Given the description of an element on the screen output the (x, y) to click on. 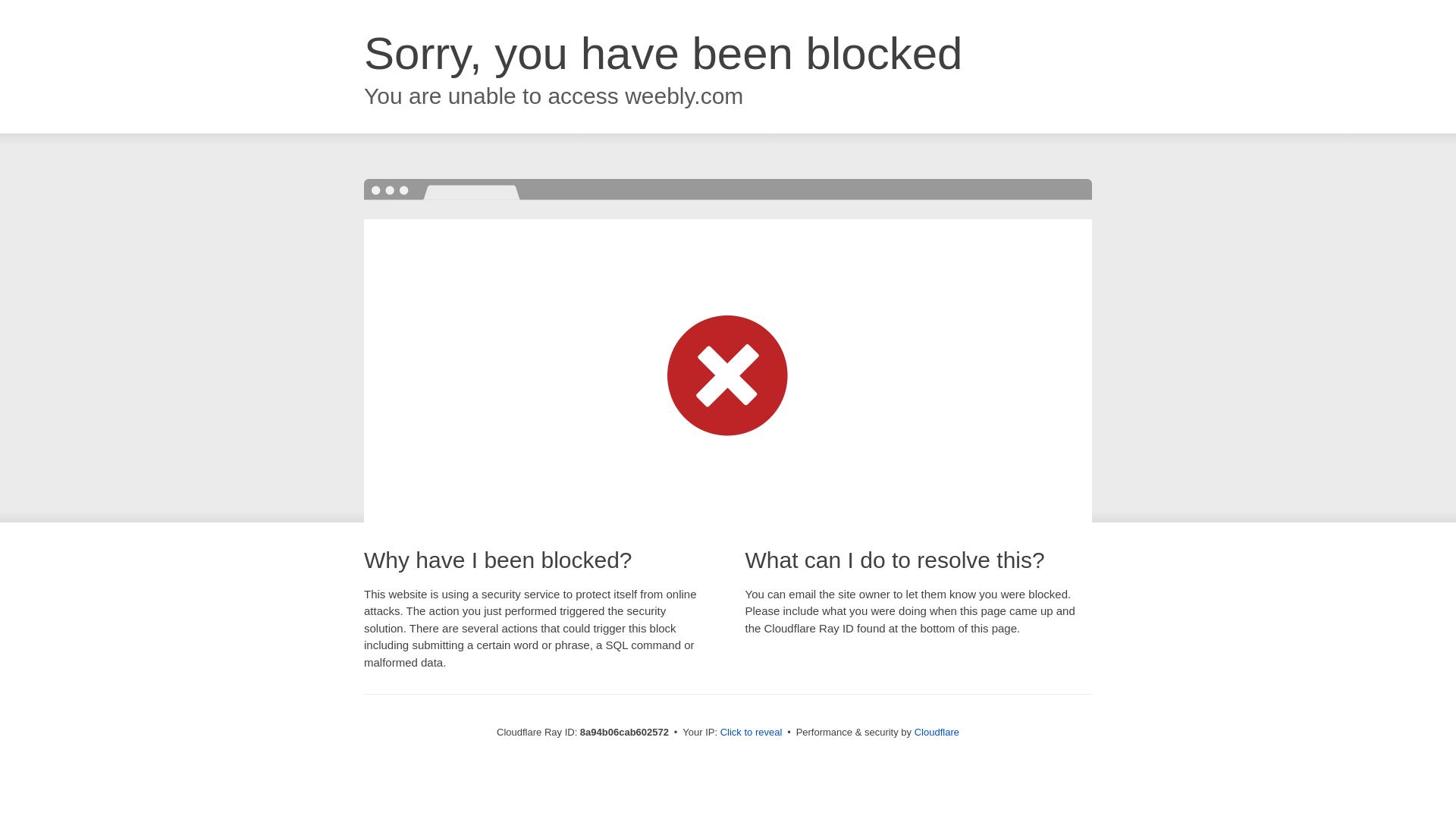
Cloudflare (936, 731)
Click to reveal (751, 732)
